Given the description of an element on the screen output the (x, y) to click on. 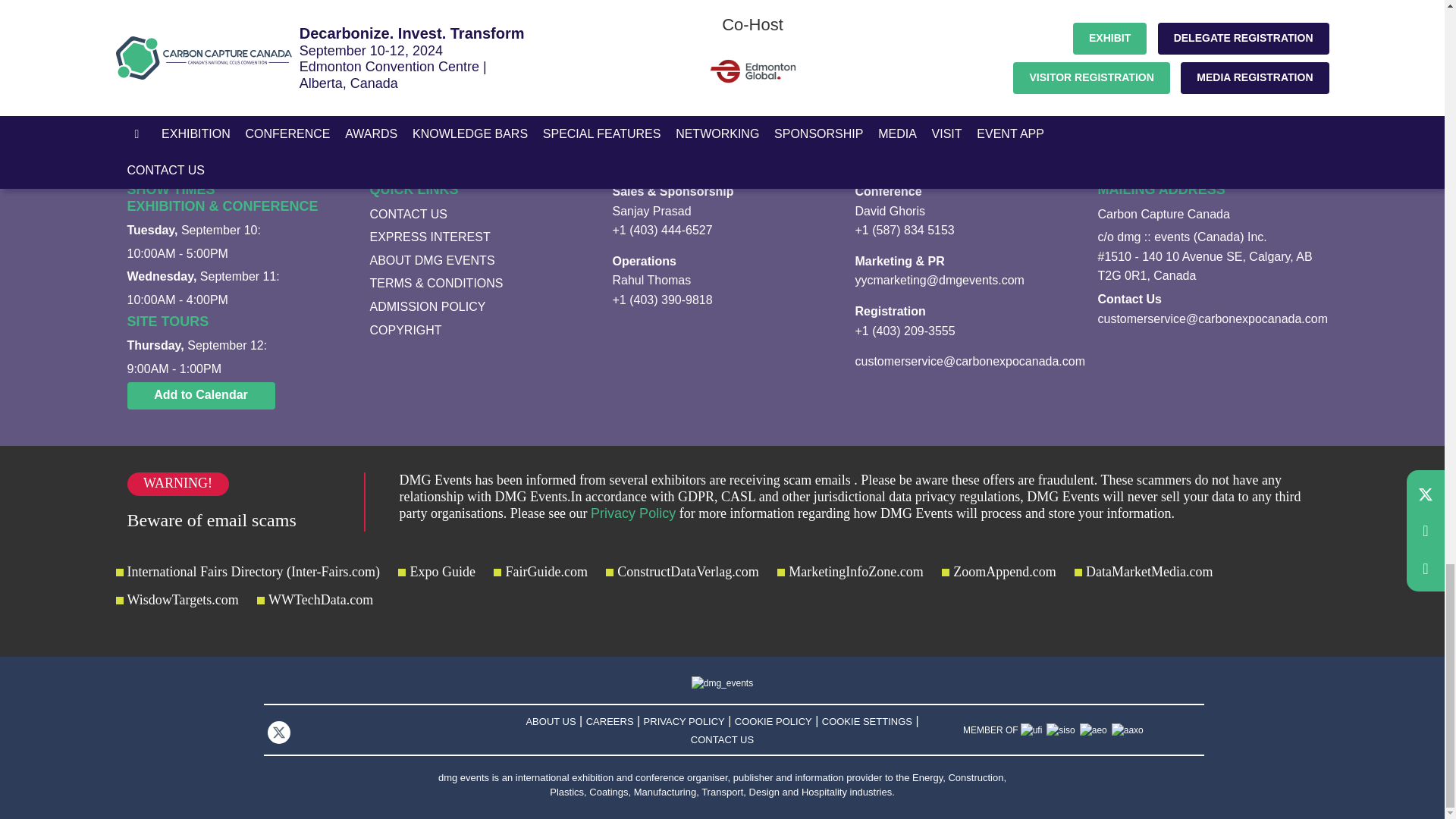
Contact Us (479, 214)
About dmg Events (479, 260)
Express Interest (479, 237)
ADMISSION POLICY (479, 306)
COPYRIGHTS (479, 330)
